Given the description of an element on the screen output the (x, y) to click on. 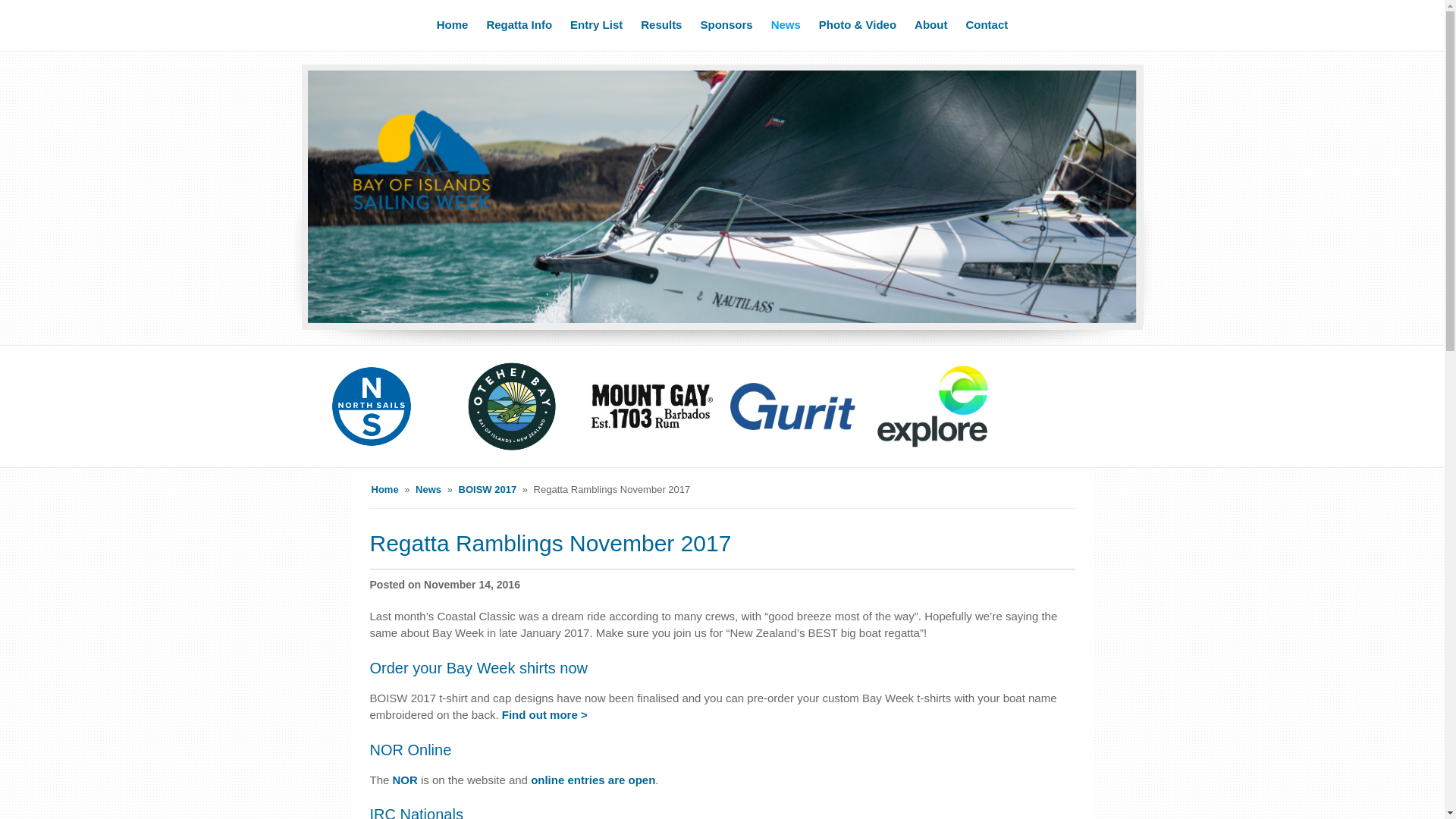
Entry List (595, 25)
Home (452, 25)
Contact (986, 25)
Go to Bay of Islands Sailing Week. (384, 489)
Results (660, 25)
Go to News. (427, 489)
Regatta Info (518, 25)
Sponsors (725, 25)
Go to the BOISW 2017 category archives. (487, 489)
News (785, 25)
About (930, 25)
